Given the description of an element on the screen output the (x, y) to click on. 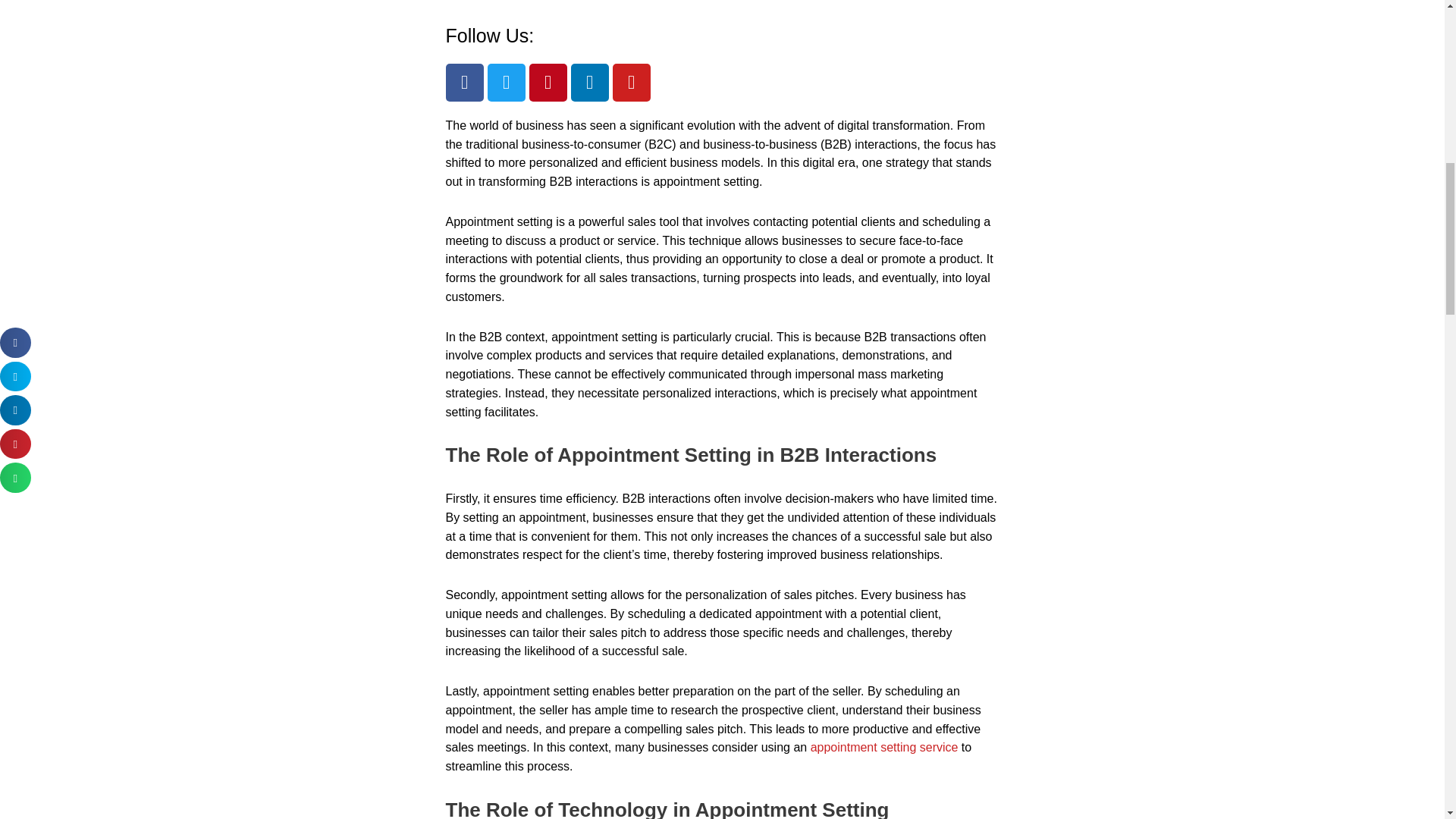
Linkedin (589, 82)
Facebook (464, 82)
Pinterest (548, 82)
appointment setting service (884, 747)
Twitter (505, 82)
Youtube (631, 82)
